Given the description of an element on the screen output the (x, y) to click on. 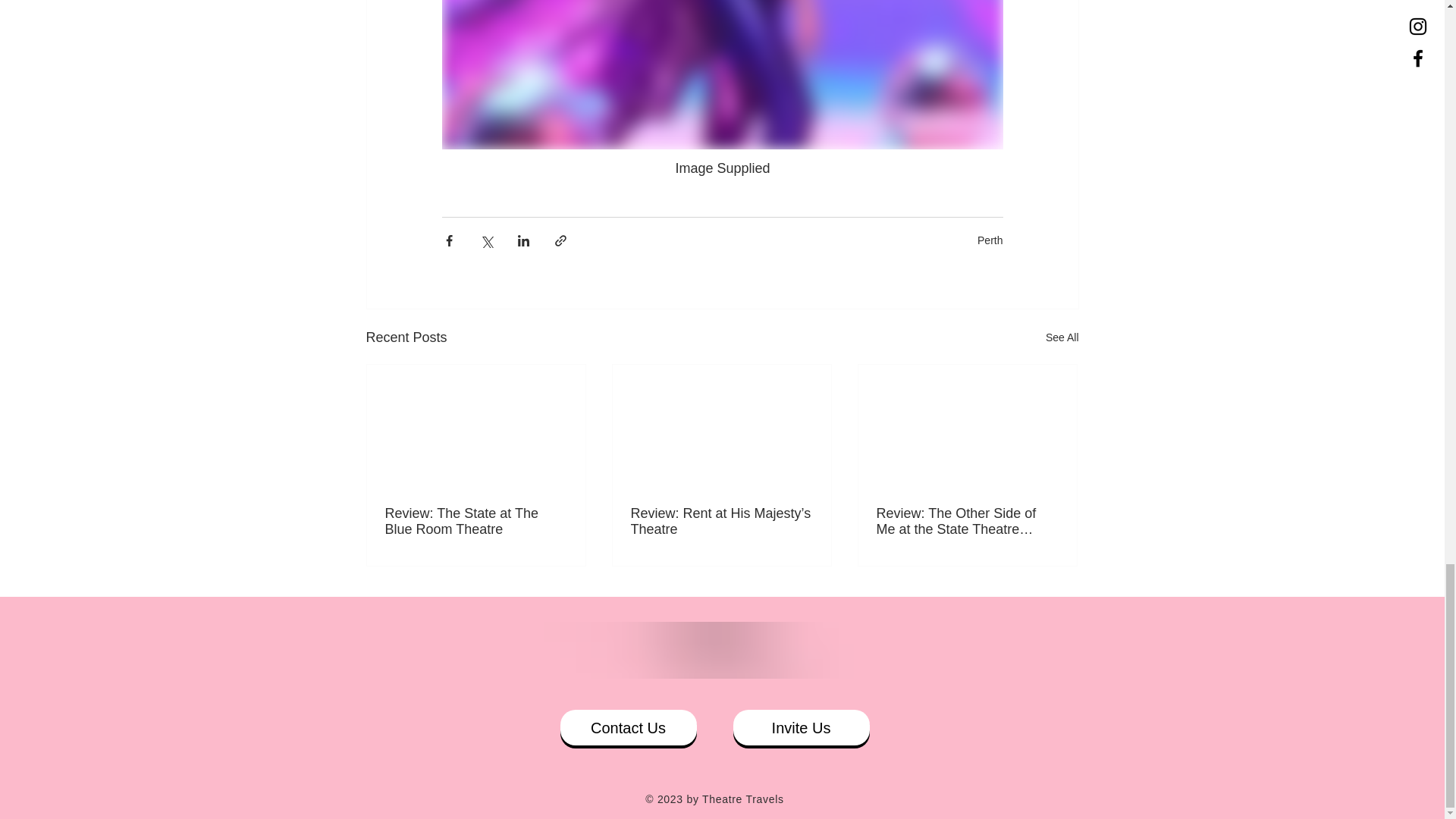
Review: The Other Side of Me at the State Theatre Centre (967, 521)
Review: The State at The Blue Room Theatre (476, 521)
Contact Us (627, 727)
See All (1061, 337)
Invite Us (800, 727)
Perth (989, 239)
